Given the description of an element on the screen output the (x, y) to click on. 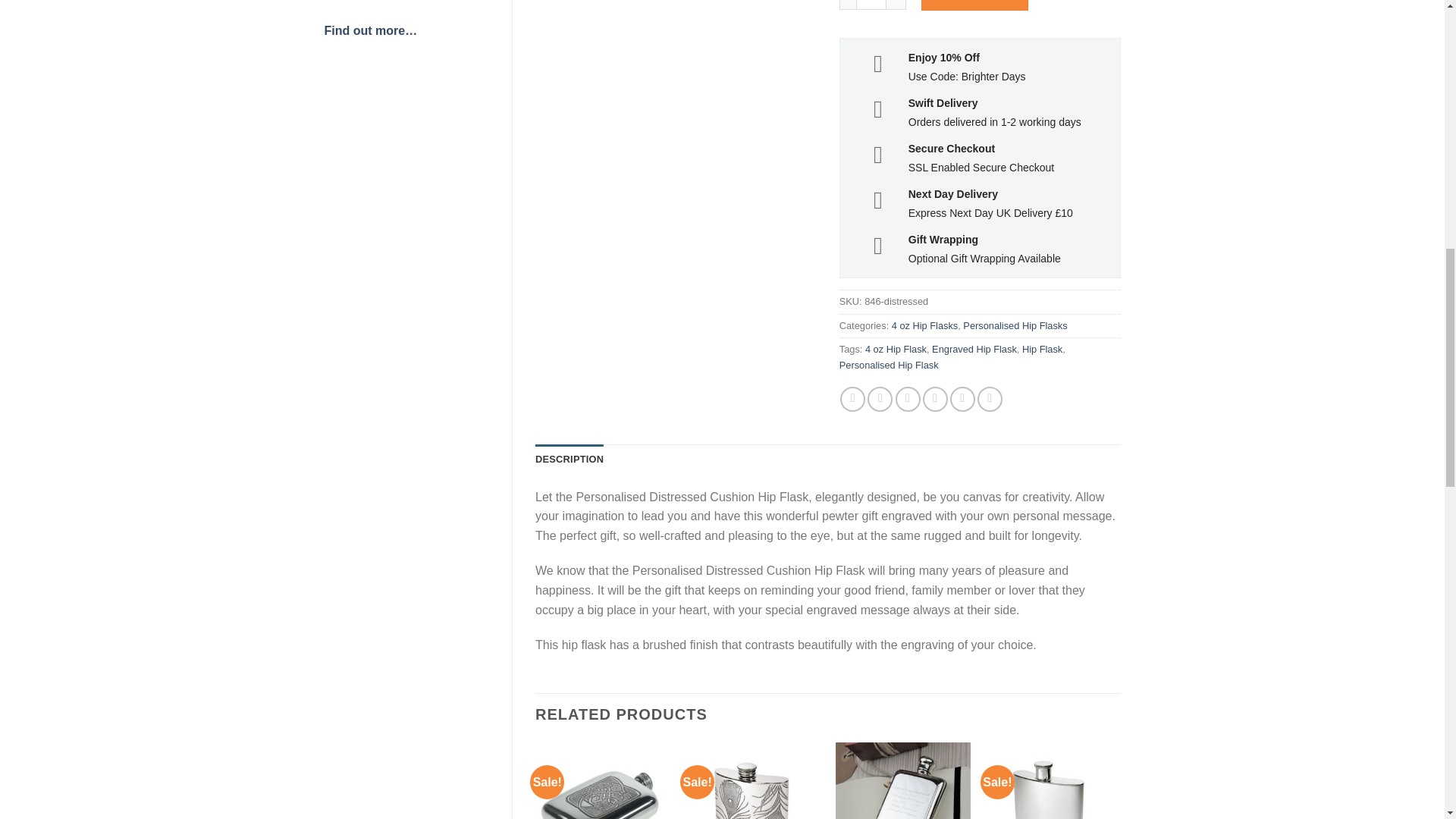
1 (871, 4)
Share on Facebook (852, 398)
- (848, 4)
